Given the description of an element on the screen output the (x, y) to click on. 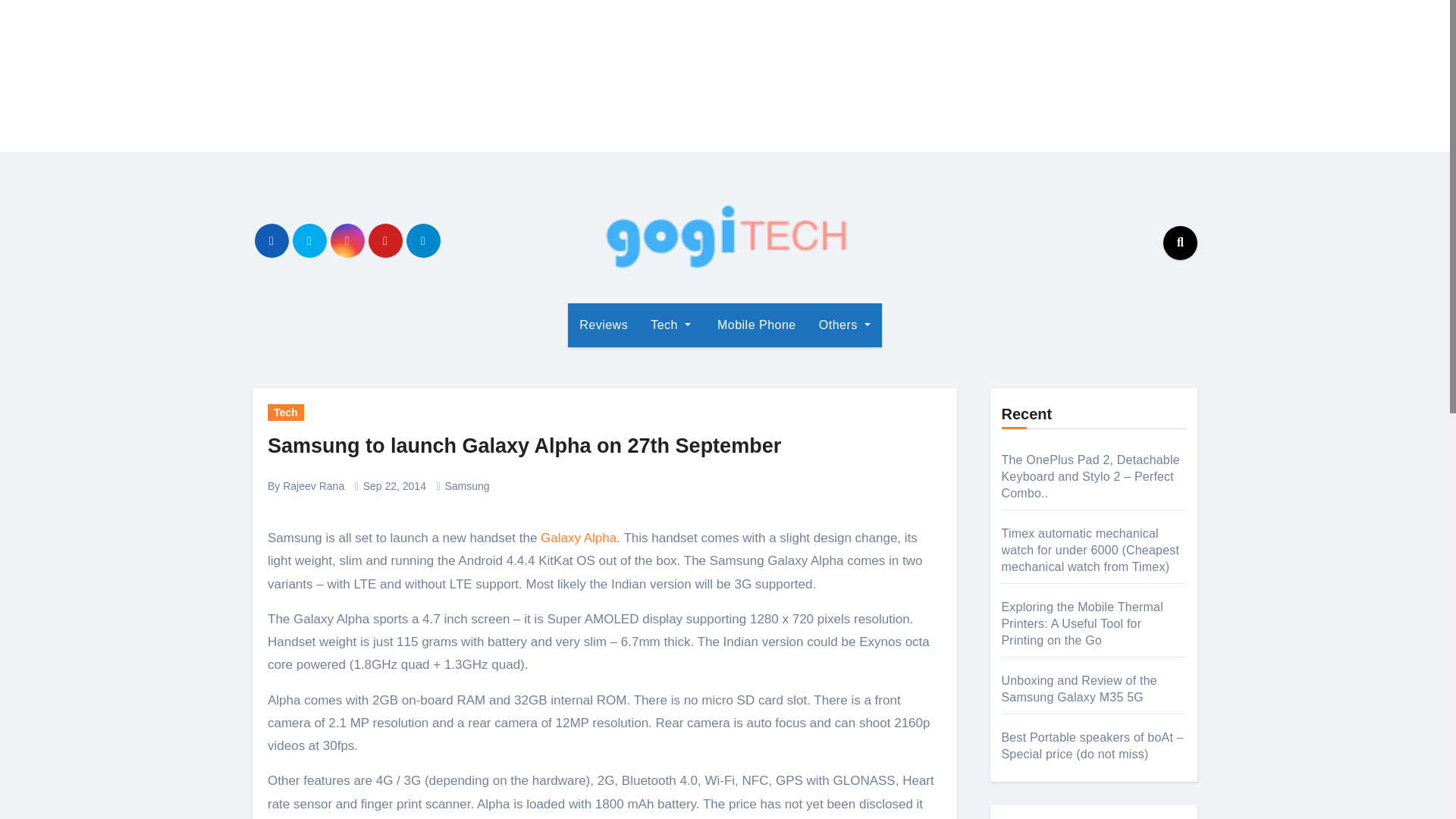
 Mobile Phone (754, 325)
Tech (670, 325)
Mobile Phone Section (754, 325)
Tech (285, 412)
Samsung to launch Galaxy Alpha on 27th September (523, 445)
By Rajeev Rana (305, 485)
Others (845, 325)
Reviews (603, 325)
Reviews (603, 325)
Others (845, 325)
Tech (670, 325)
